Given the description of an element on the screen output the (x, y) to click on. 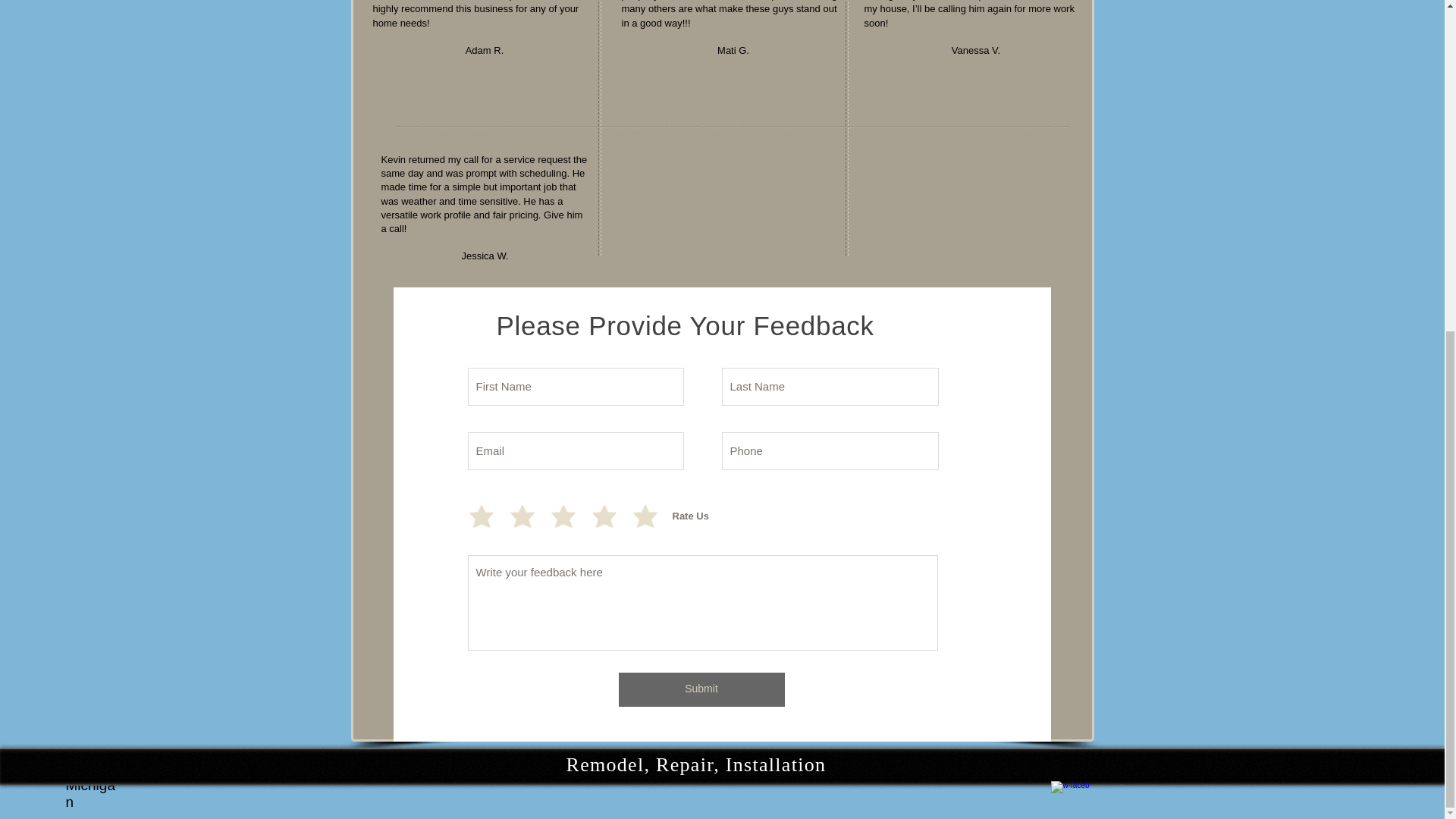
Submit (701, 689)
